Given the description of an element on the screen output the (x, y) to click on. 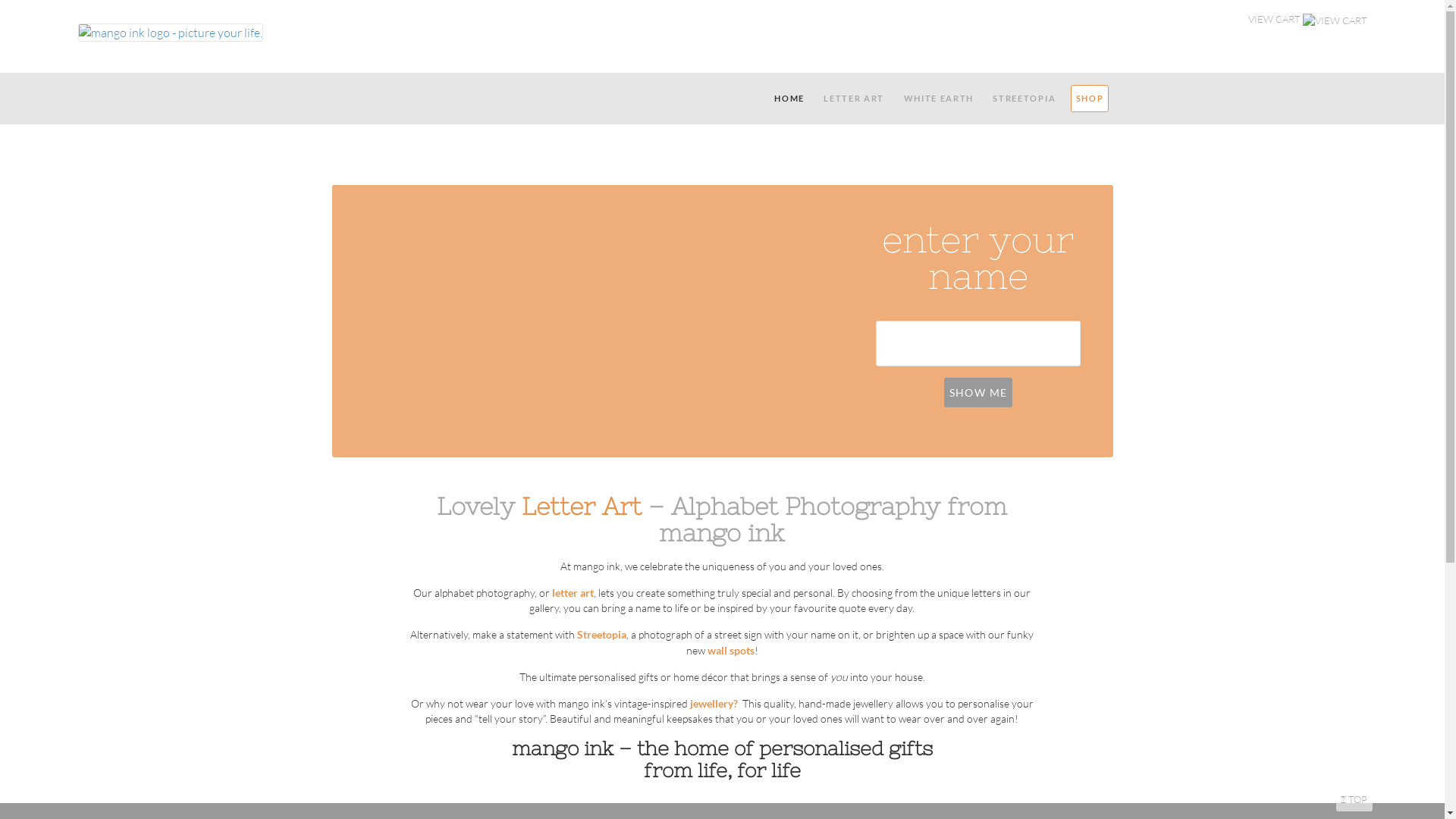
letter art Element type: text (572, 592)
LETTER ART Element type: text (853, 98)
SHOW ME Element type: text (977, 392)
HOME Element type: text (789, 98)
WHITE EARTH Element type: text (938, 98)
SHOP Element type: text (1089, 98)
Streetopia Element type: text (601, 633)
STREETOPIA Element type: text (1024, 98)
Letter Art Element type: text (581, 506)
VIEW CART Element type: text (1307, 19)
jewellery? Element type: text (713, 702)
wall spots Element type: text (730, 649)
